Given the description of an element on the screen output the (x, y) to click on. 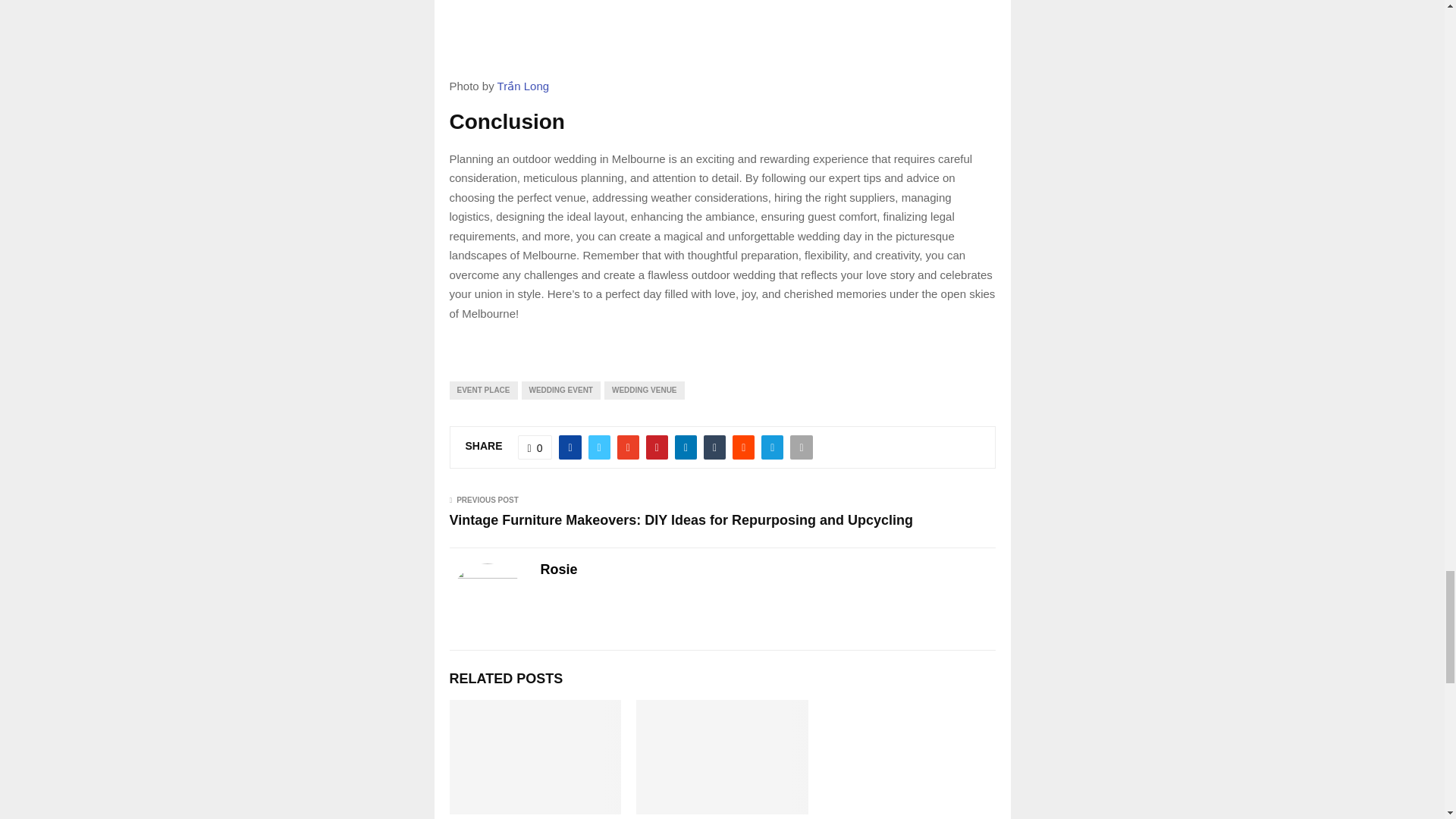
Like (535, 446)
